Given the description of an element on the screen output the (x, y) to click on. 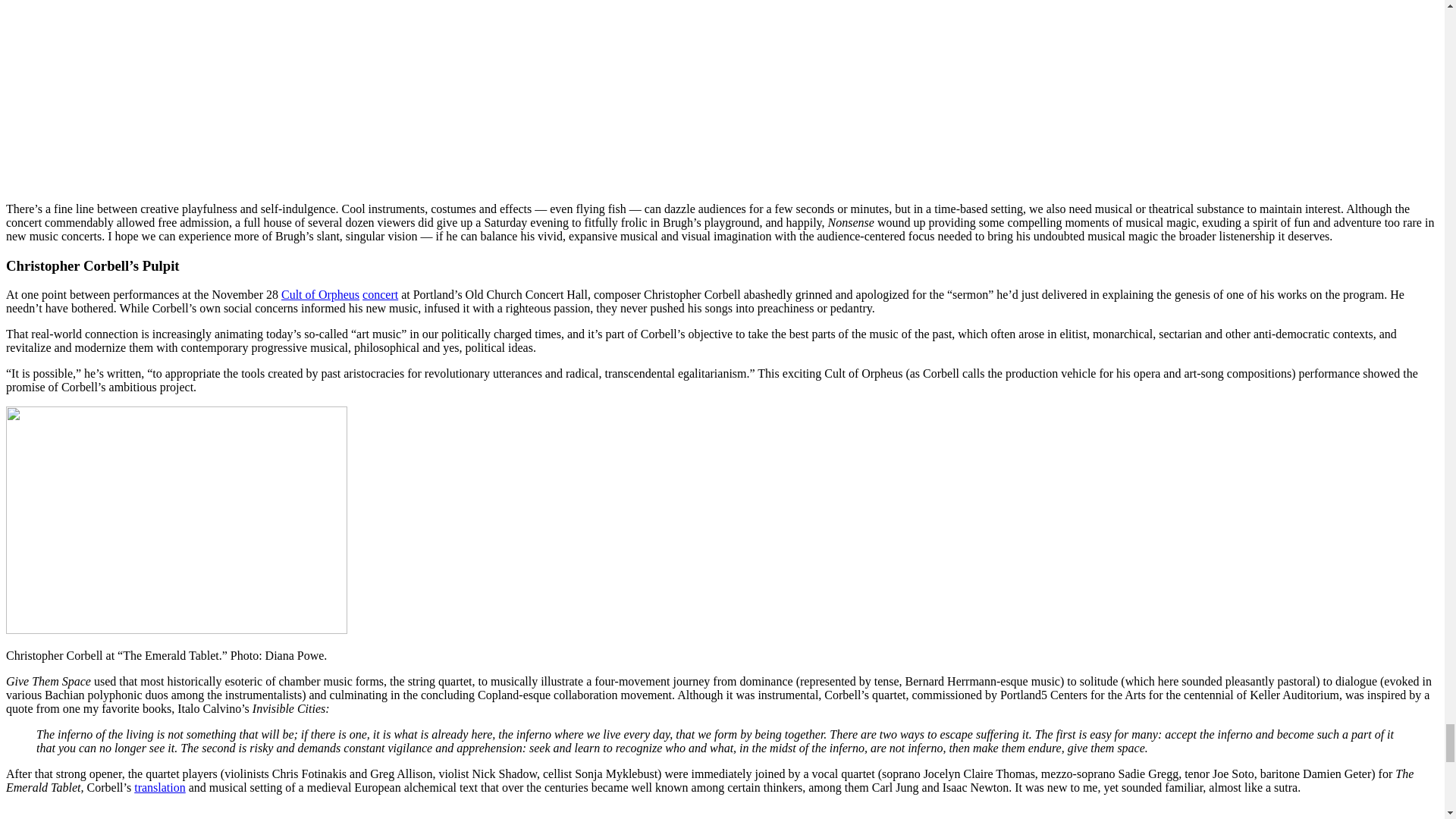
Cult of Orpheus (320, 294)
concert (379, 294)
translation (159, 787)
